Given the description of an element on the screen output the (x, y) to click on. 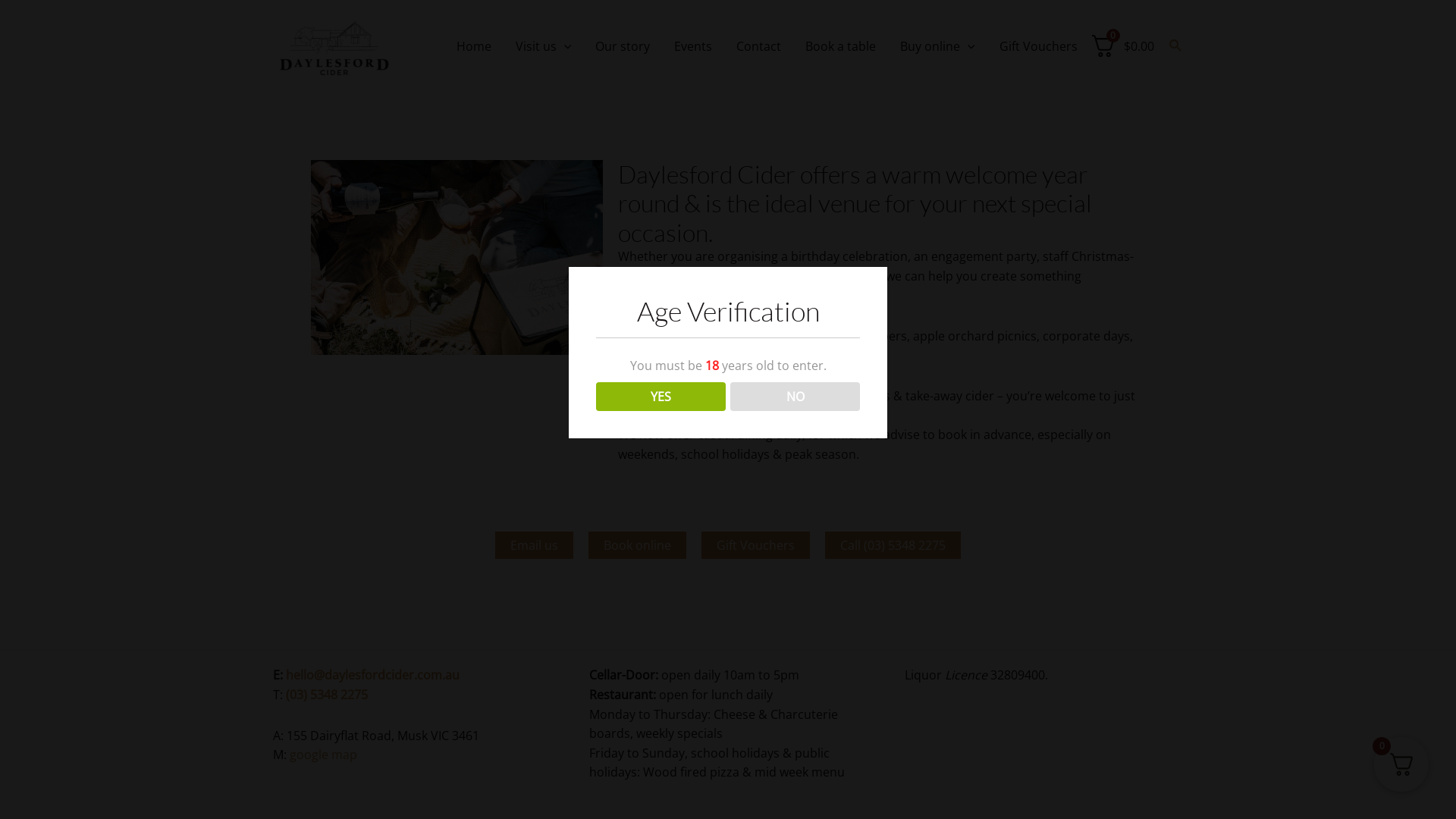
Our story Element type: text (622, 45)
Buy online Element type: text (937, 45)
Home Element type: text (473, 45)
google map Element type: text (323, 754)
hello@daylesfordcider.com.au Element type: text (372, 674)
Events Element type: text (693, 45)
YES Element type: text (660, 396)
Search Element type: text (1176, 46)
NO Element type: text (794, 396)
Visit us Element type: text (543, 45)
Gift Vouchers Element type: text (755, 544)
Contact Element type: text (758, 45)
Gift Vouchers Element type: text (1038, 45)
Email us Element type: text (534, 544)
Book online Element type: text (637, 544)
Call (03) 5348 2275 Element type: text (892, 544)
(03) 5348 2275 Element type: text (326, 694)
Book a table Element type: text (840, 45)
